Given the description of an element on the screen output the (x, y) to click on. 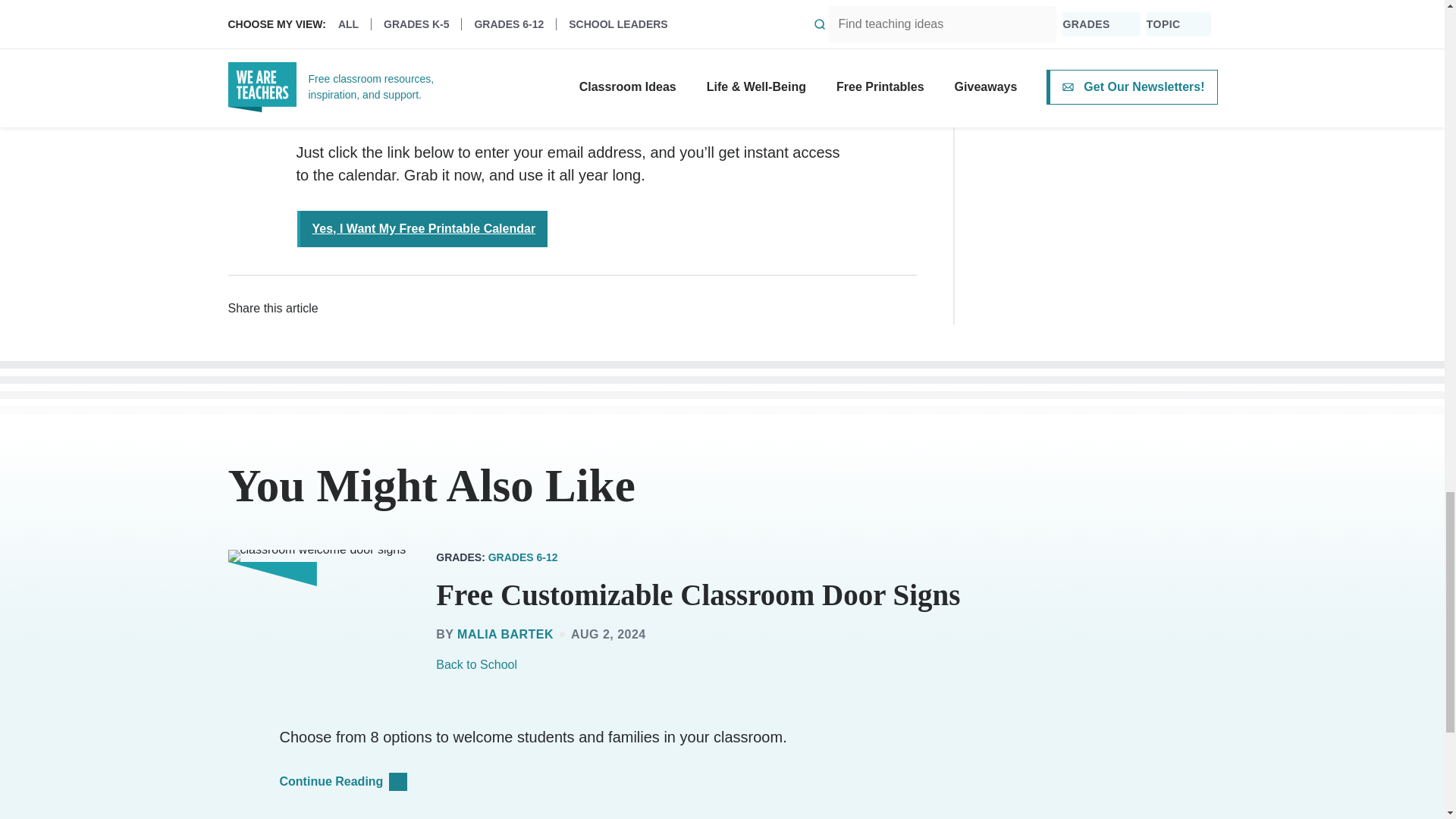
Back to School (475, 665)
Continue Reading (349, 782)
2024-25-Calendar (438, 114)
MALIA BARTEK (505, 634)
Yes, I Want My Free Printable Calendar (422, 228)
GRADES 6-12 (522, 557)
Free Customizable Classroom Door Signs (697, 594)
